Given the description of an element on the screen output the (x, y) to click on. 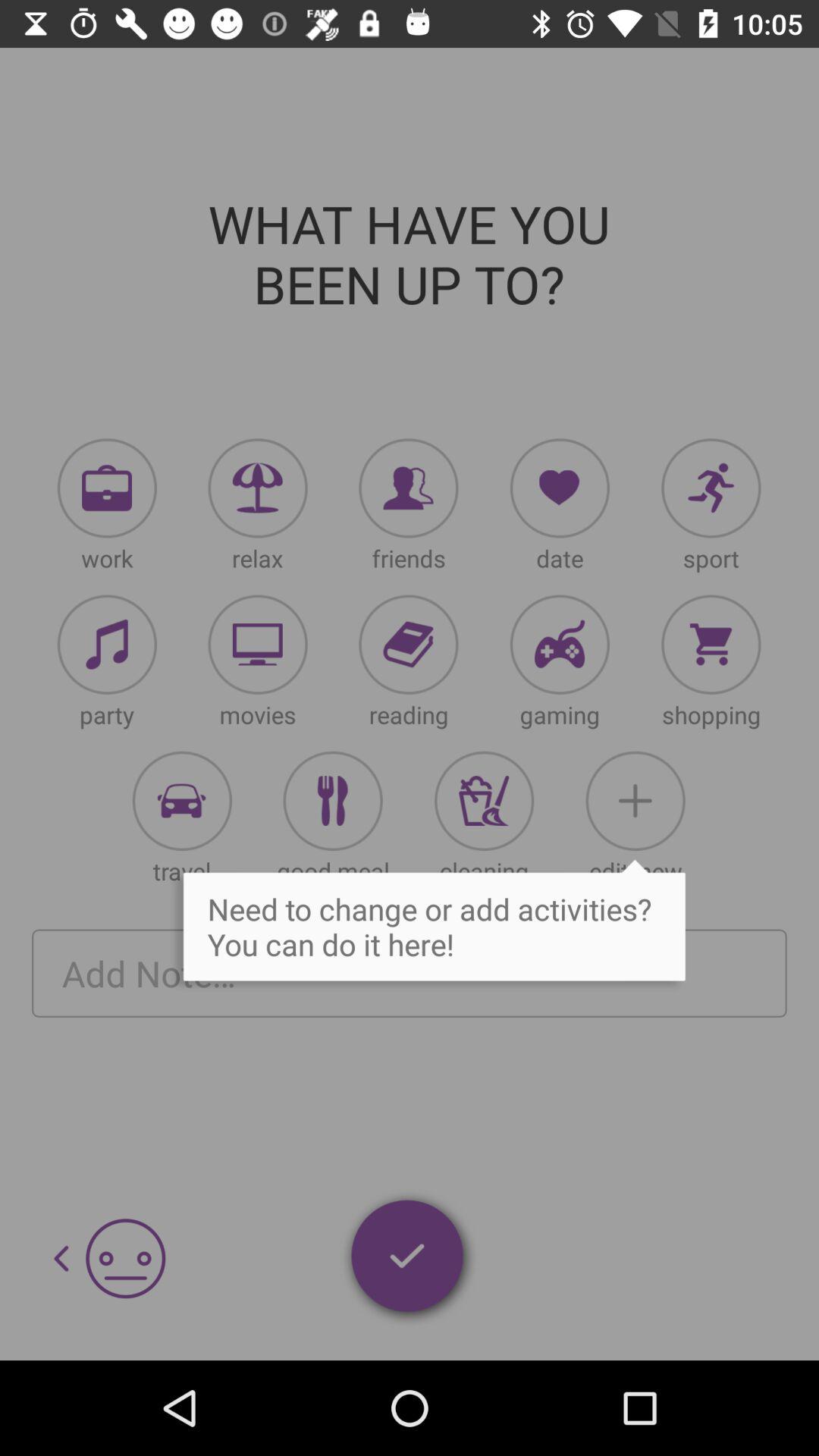
beverage icon (484, 800)
